Given the description of an element on the screen output the (x, y) to click on. 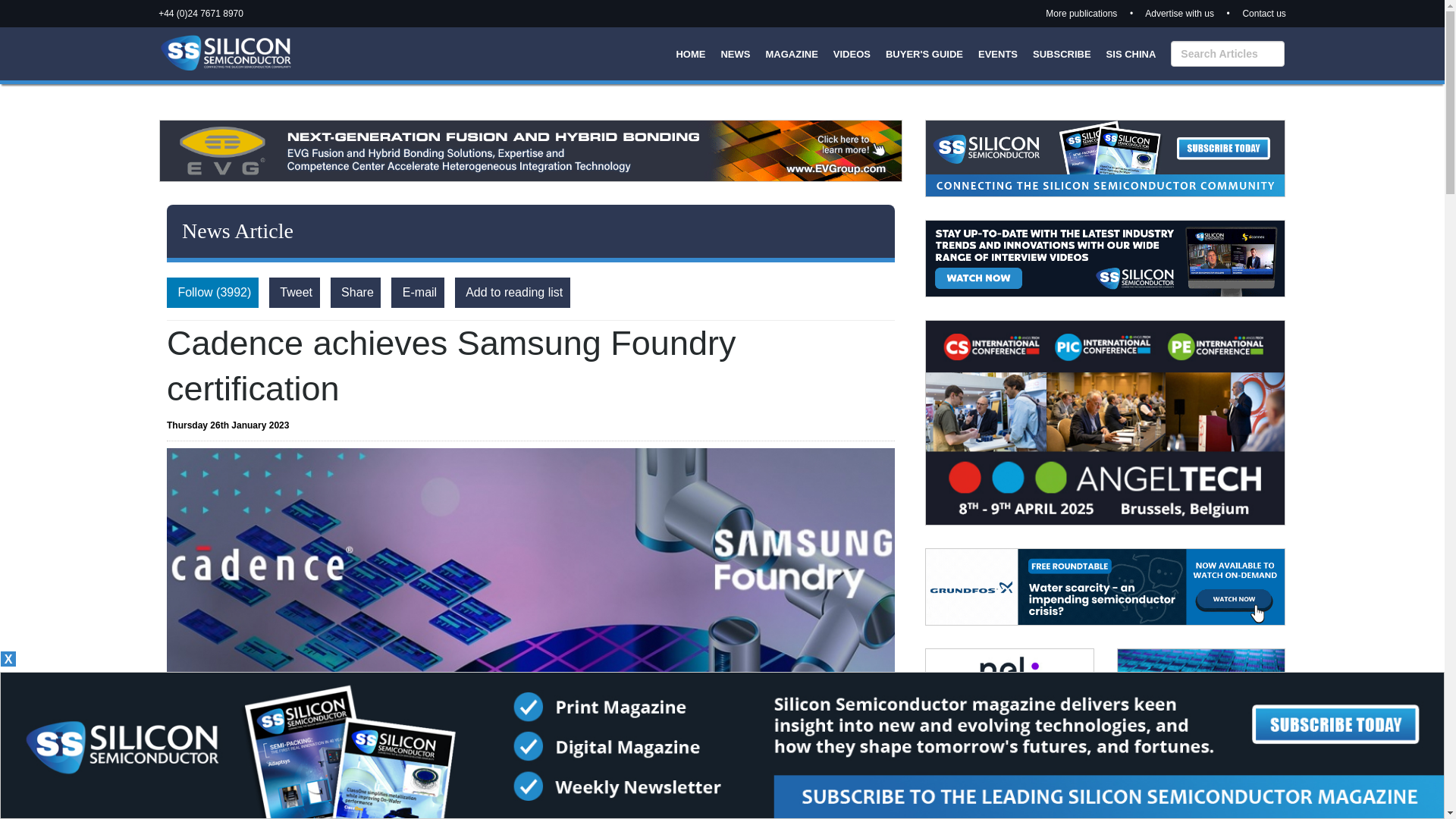
NEWS (734, 53)
HOME (689, 53)
Add to reading list (511, 292)
VIDEOS (851, 53)
Contact us (1263, 13)
Advertise with us (1179, 13)
SIS CHINA (1131, 53)
EVENTS (997, 53)
E-mail (417, 292)
Share (355, 292)
BUYER'S GUIDE (923, 53)
MAGAZINE (790, 53)
SUBSCRIBE (1061, 53)
More publications (1080, 13)
Tweet (294, 292)
